Given the description of an element on the screen output the (x, y) to click on. 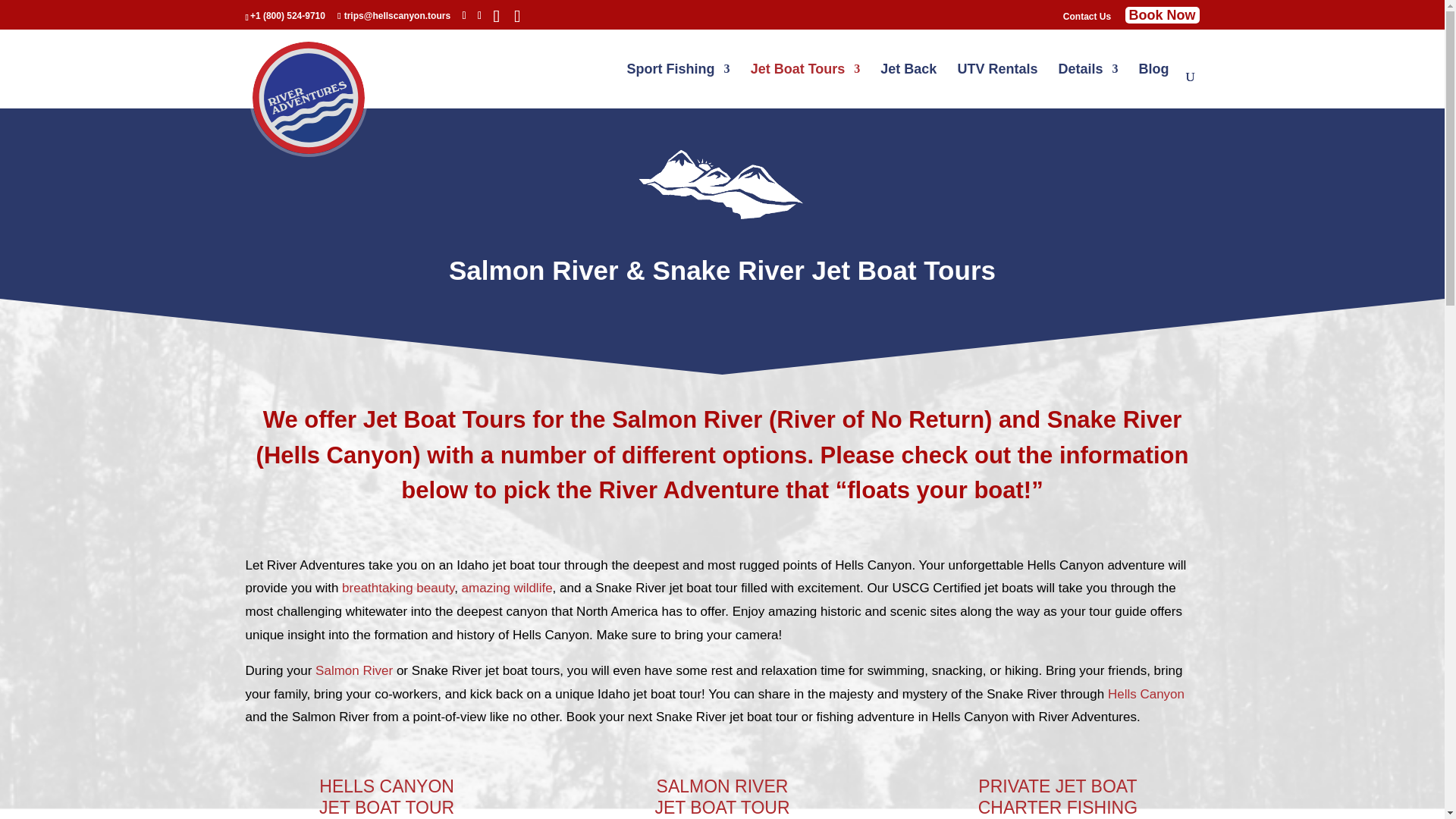
Book Now (1162, 14)
Jet Back (908, 85)
UTV Rentals (996, 85)
Contact Us (1086, 19)
Sport Fishing (678, 85)
Details (1088, 85)
Jet Boat Tours (805, 85)
